Given the description of an element on the screen output the (x, y) to click on. 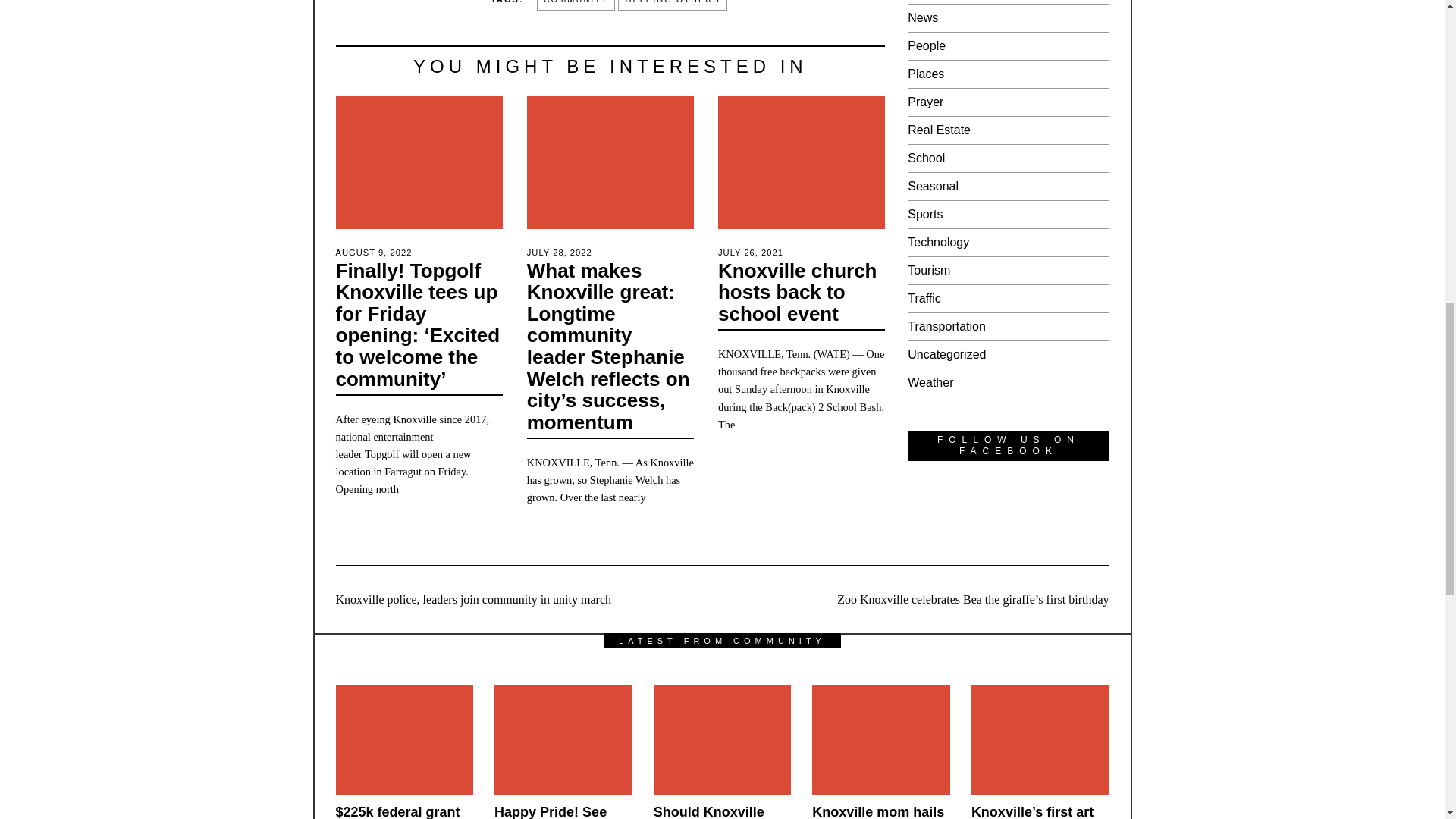
COMMUNITY (576, 5)
HELPING OTHERS (671, 5)
Knoxville church hosts back to school event (797, 292)
